Given the description of an element on the screen output the (x, y) to click on. 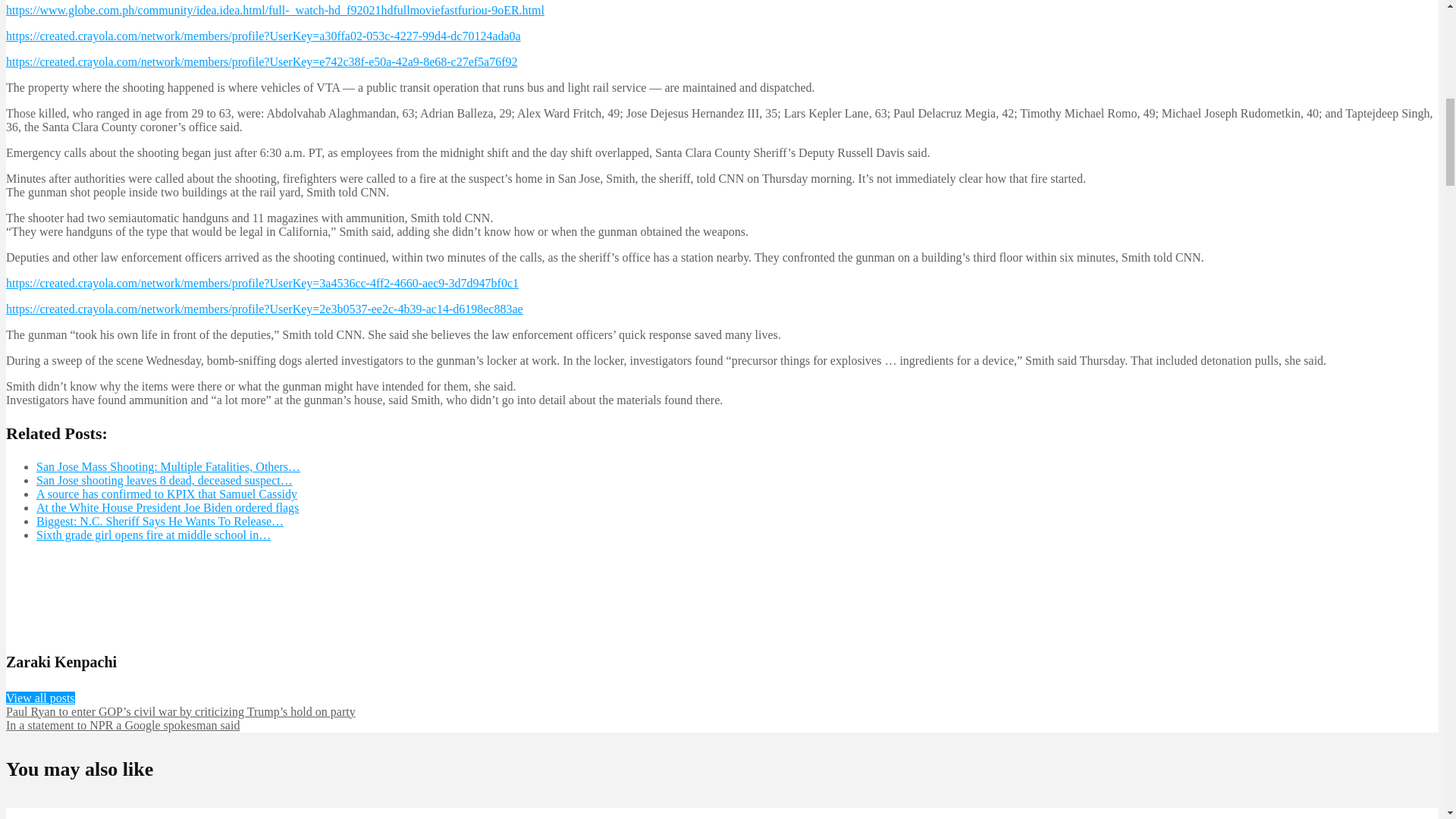
View all posts (40, 697)
A source has confirmed to KPIX that Samuel Cassidy (166, 493)
At the White House President Joe Biden ordered flags (167, 507)
In a statement to NPR a Google spokesman said (122, 725)
